Given the description of an element on the screen output the (x, y) to click on. 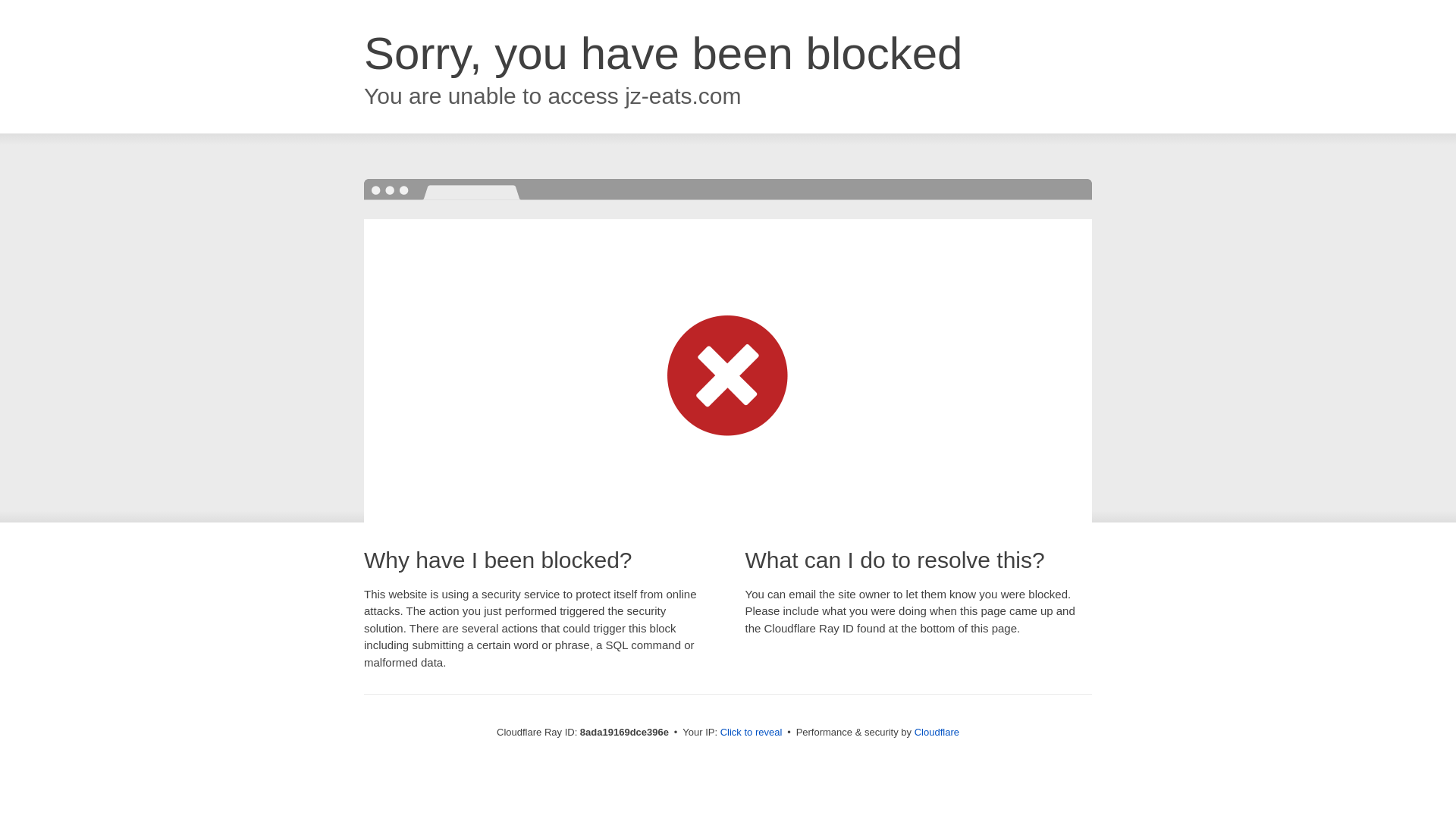
Click to reveal (751, 732)
Cloudflare (936, 731)
